Given the description of an element on the screen output the (x, y) to click on. 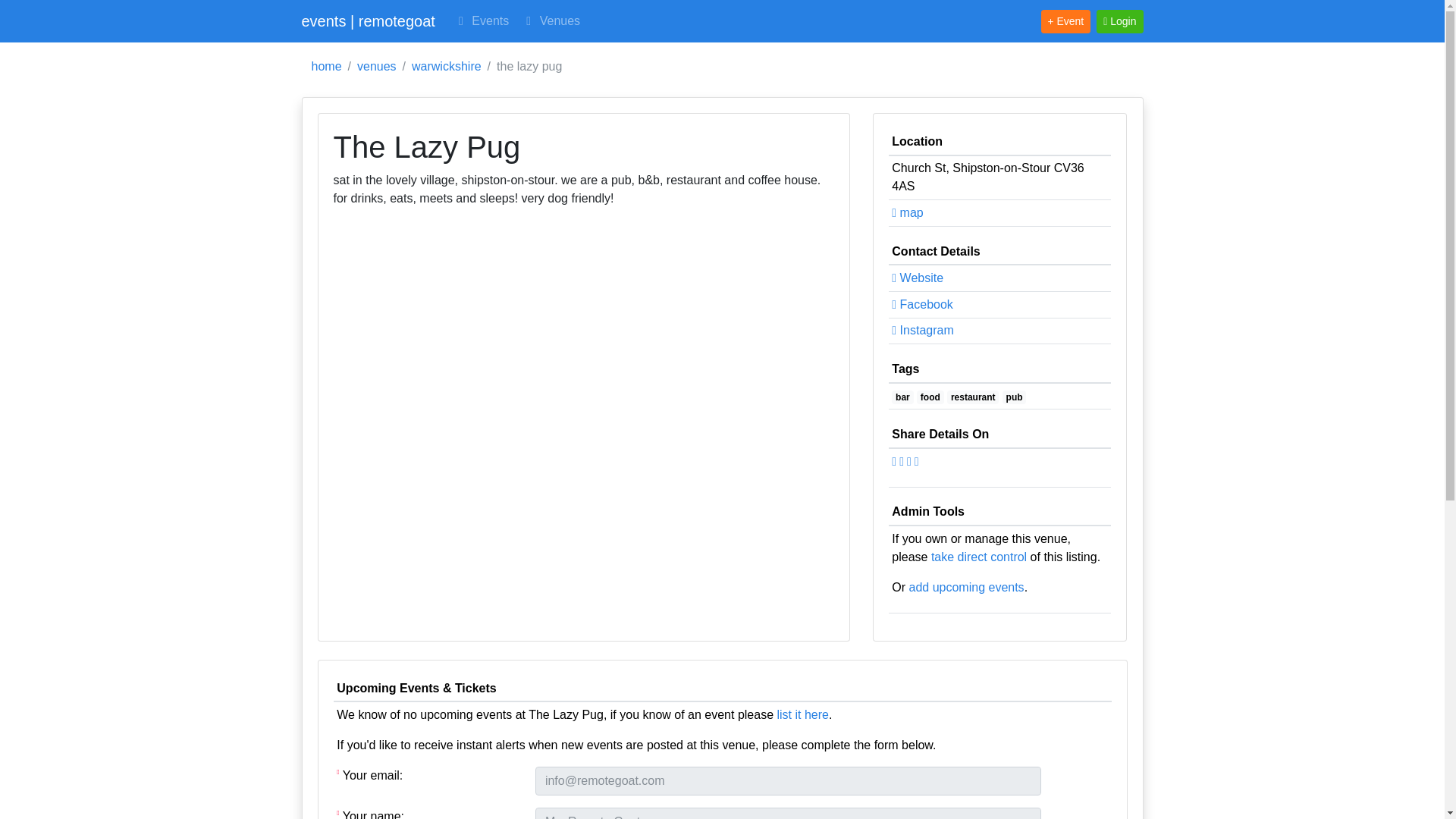
venues (376, 66)
Show on google maps (907, 212)
Instagram (922, 329)
food (930, 397)
pub (1014, 397)
Manage this venue (978, 556)
Website (917, 277)
Venues (550, 20)
list new event (802, 714)
warwickshire (446, 66)
